Given the description of an element on the screen output the (x, y) to click on. 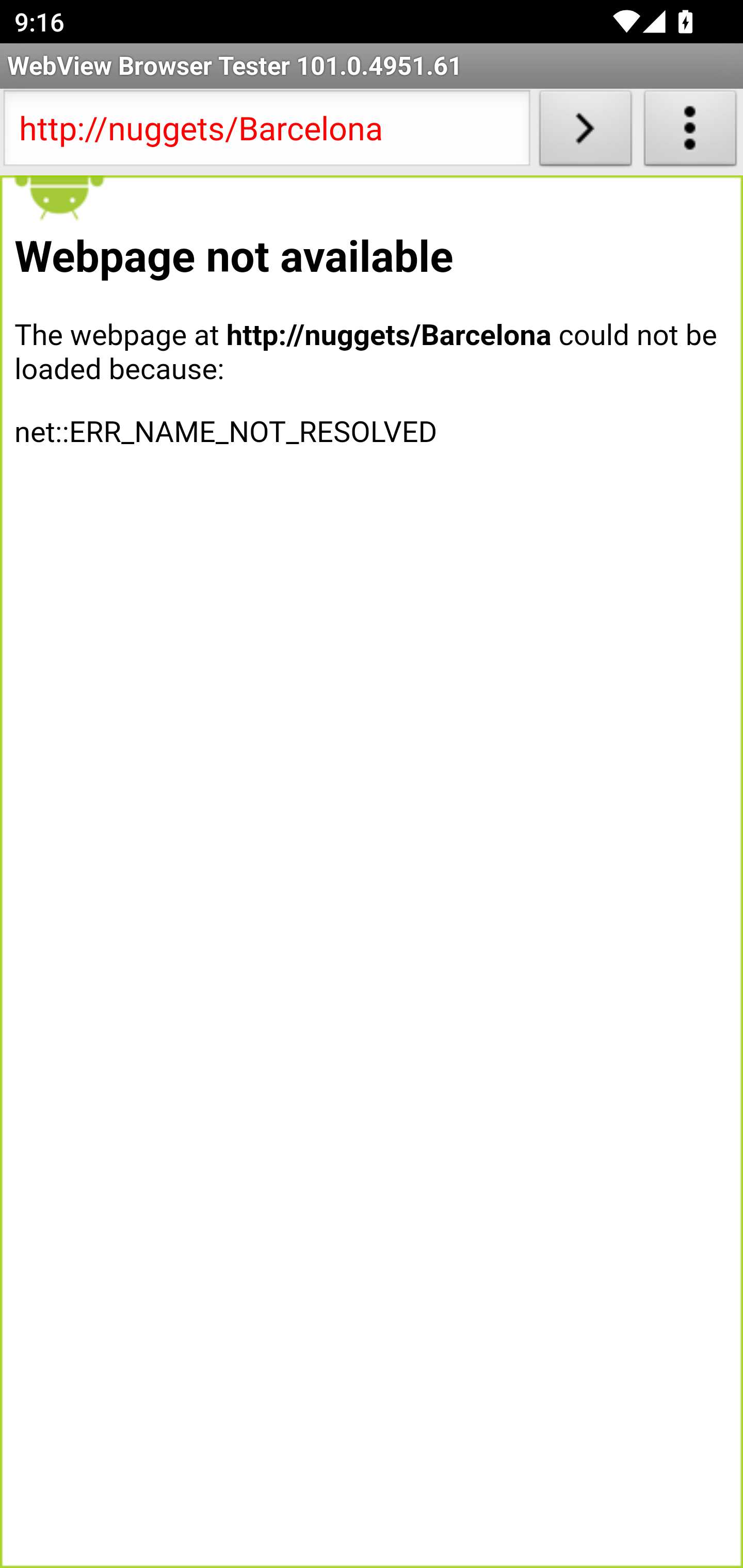
http://nuggets/Barcelona (266, 132)
Load URL (585, 132)
About WebView (690, 132)
